Given the description of an element on the screen output the (x, y) to click on. 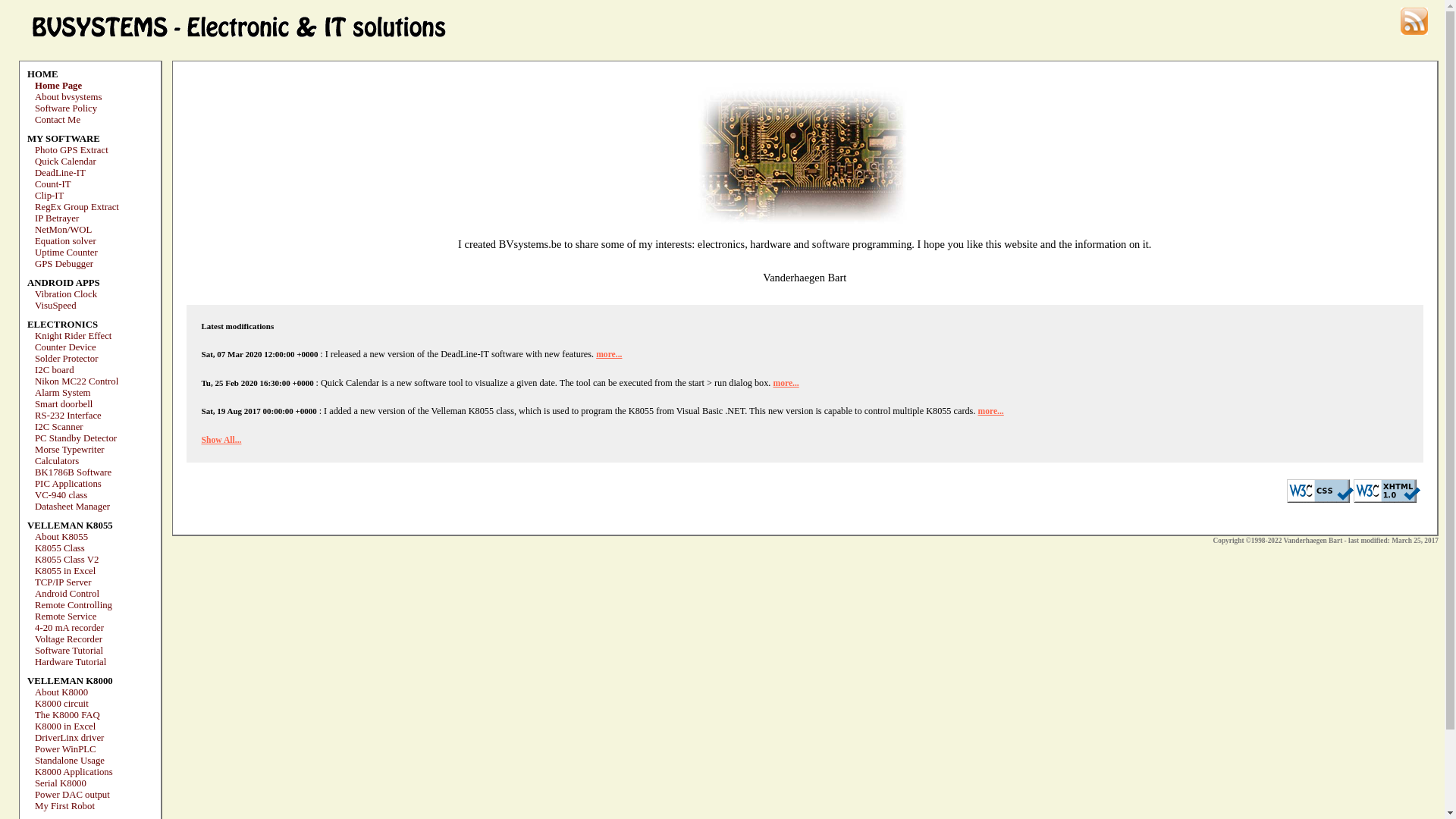
Contact Me Element type: text (57, 119)
Standalone Usage Element type: text (69, 760)
DriverLinx driver Element type: text (68, 737)
NetMon/WOL Element type: text (62, 229)
K8055 Class V2 Element type: text (66, 559)
PC Standby Detector Element type: text (75, 438)
RS-232 Interface Element type: text (67, 415)
Software Tutorial Element type: text (68, 650)
Count-IT Element type: text (52, 183)
K8000 circuit Element type: text (61, 703)
Home Page Element type: text (57, 85)
HOME Element type: text (42, 74)
I2C board Element type: text (54, 369)
K8055 Class Element type: text (59, 547)
GPS Debugger Element type: text (63, 263)
more... Element type: text (785, 383)
TCP/IP Server Element type: text (62, 582)
K8055 in Excel Element type: text (64, 570)
Equation solver Element type: text (65, 240)
Remote Service Element type: text (65, 616)
Hardware Tutorial Element type: text (70, 661)
Nikon MC22 Control Element type: text (76, 381)
K8000 Applications Element type: text (73, 771)
IP Betrayer Element type: text (56, 218)
About K8000 Element type: text (60, 692)
more... Element type: text (608, 354)
Counter Device Element type: text (65, 347)
Solder Protector Element type: text (66, 358)
About bvsystems Element type: text (68, 96)
Power WinPLC Element type: text (65, 748)
Clip-IT Element type: text (48, 195)
Remote Controlling Element type: text (73, 604)
Voltage Recorder Element type: text (68, 638)
Uptime Counter Element type: text (65, 252)
more... Element type: text (990, 411)
Power DAC output Element type: text (71, 794)
I2C Scanner Element type: text (58, 426)
RegEx Group Extract Element type: text (76, 206)
PIC Applications Element type: text (67, 483)
Android Control Element type: text (66, 593)
Datasheet Manager Element type: text (71, 506)
DeadLine-IT Element type: text (59, 172)
K8000 in Excel Element type: text (64, 726)
Calculators Element type: text (56, 460)
Smart doorbell Element type: text (63, 403)
VisuSpeed Element type: text (55, 305)
Morse Typewriter Element type: text (69, 449)
Alarm System Element type: text (62, 392)
BK1786B Software Element type: text (72, 472)
Photo GPS Extract Element type: text (71, 149)
About K8055 Element type: text (60, 536)
Vibration Clock Element type: text (65, 293)
Knight Rider Effect Element type: text (72, 335)
4-20 mA recorder Element type: text (68, 627)
Quick Calendar Element type: text (65, 161)
Show All... Element type: text (221, 440)
VC-940 class Element type: text (60, 494)
Serial K8000 Element type: text (60, 783)
The K8000 FAQ Element type: text (67, 714)
My First Robot Element type: text (64, 805)
Software Policy Element type: text (65, 108)
